Given the description of an element on the screen output the (x, y) to click on. 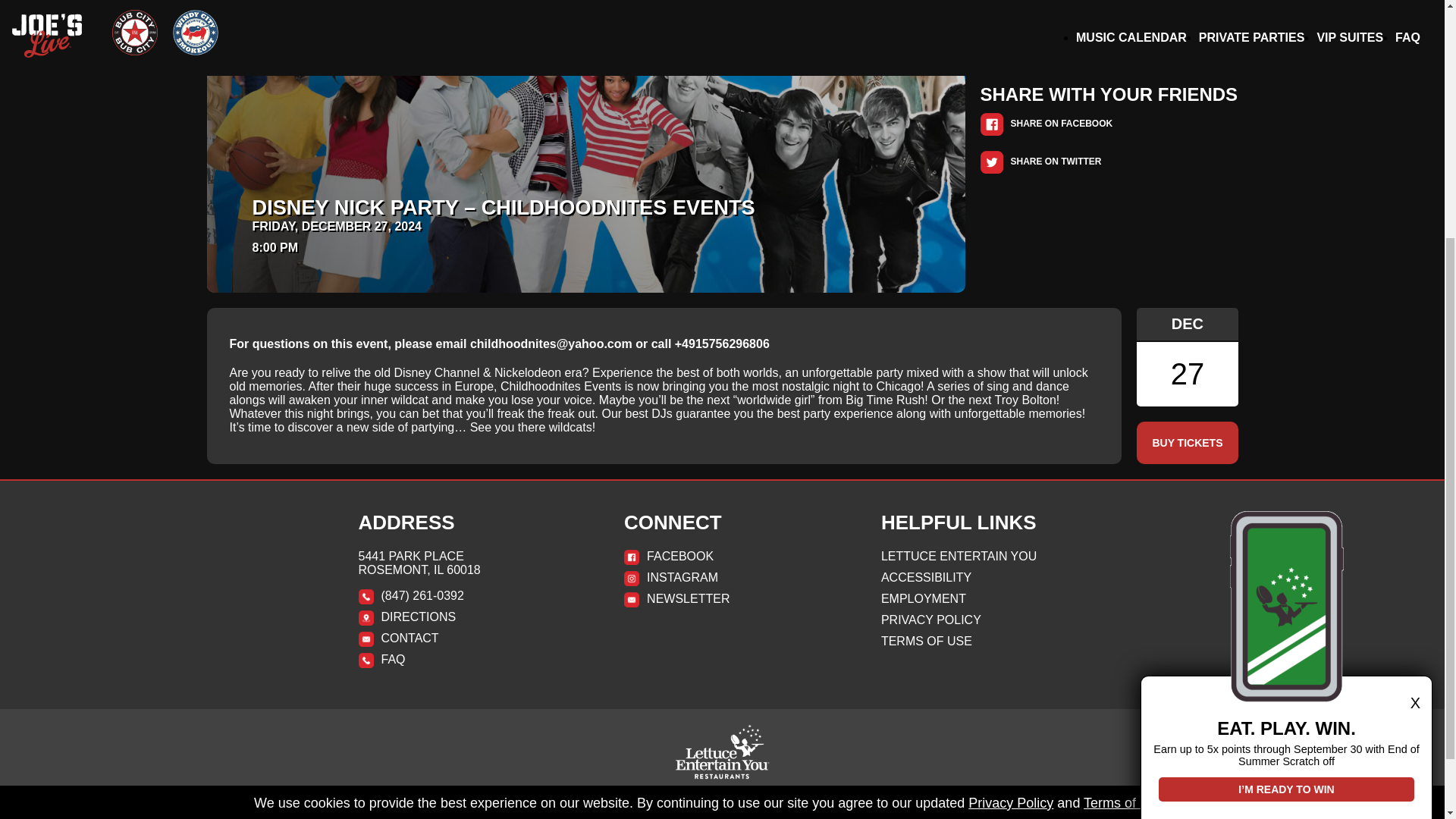
Terms of Use (1123, 446)
X (1287, 346)
Privacy Policy (1010, 446)
CONTACT (460, 638)
BUY TICKETS (1187, 442)
FAQ (460, 659)
LETTUCE ENTERTAIN YOU (983, 556)
SHARE ON FACEBOOK (1045, 122)
INSTAGRAM (722, 577)
DIRECTIONS (460, 617)
